Given the description of an element on the screen output the (x, y) to click on. 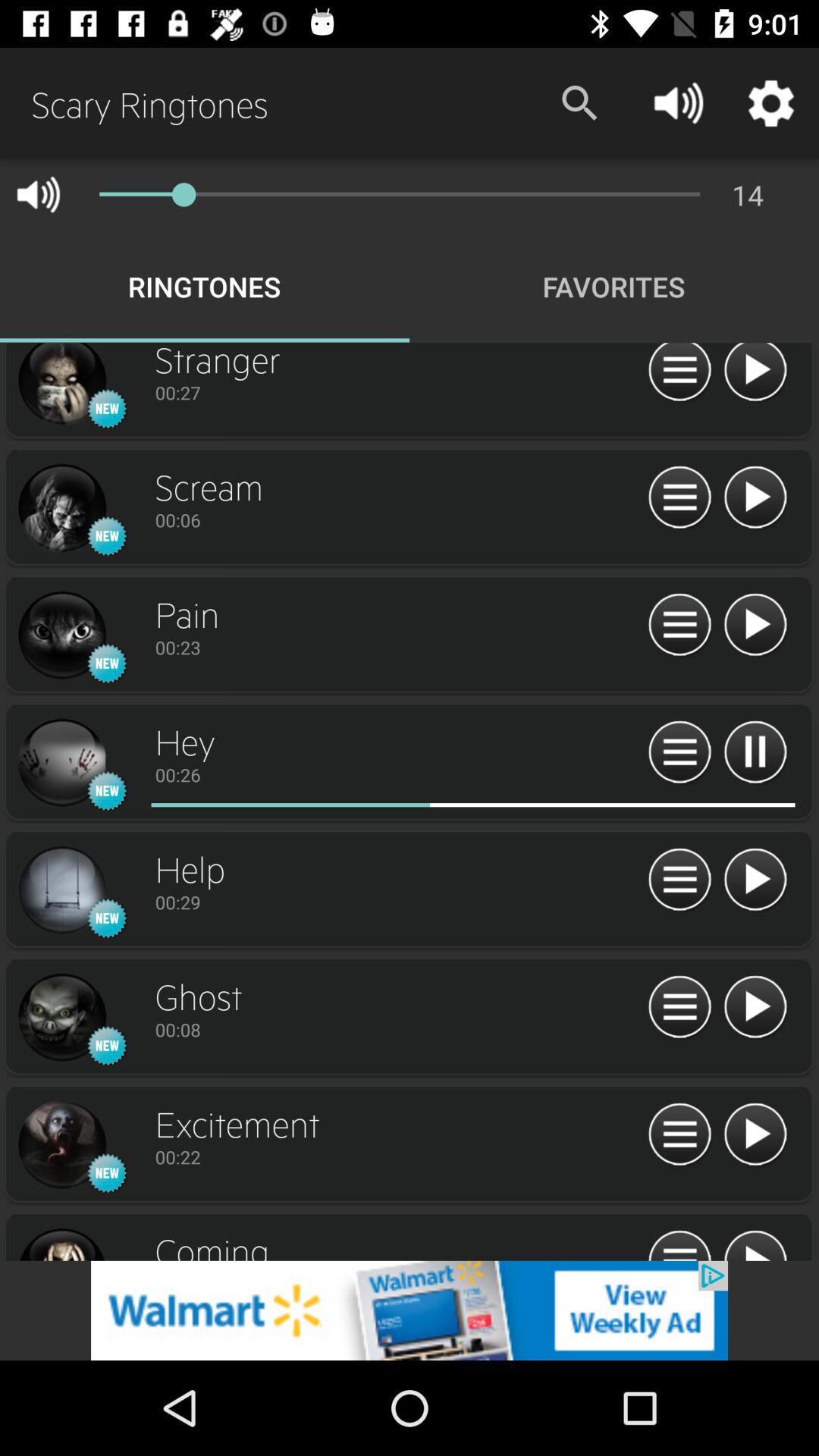
go to play obstion (755, 1243)
